Given the description of an element on the screen output the (x, y) to click on. 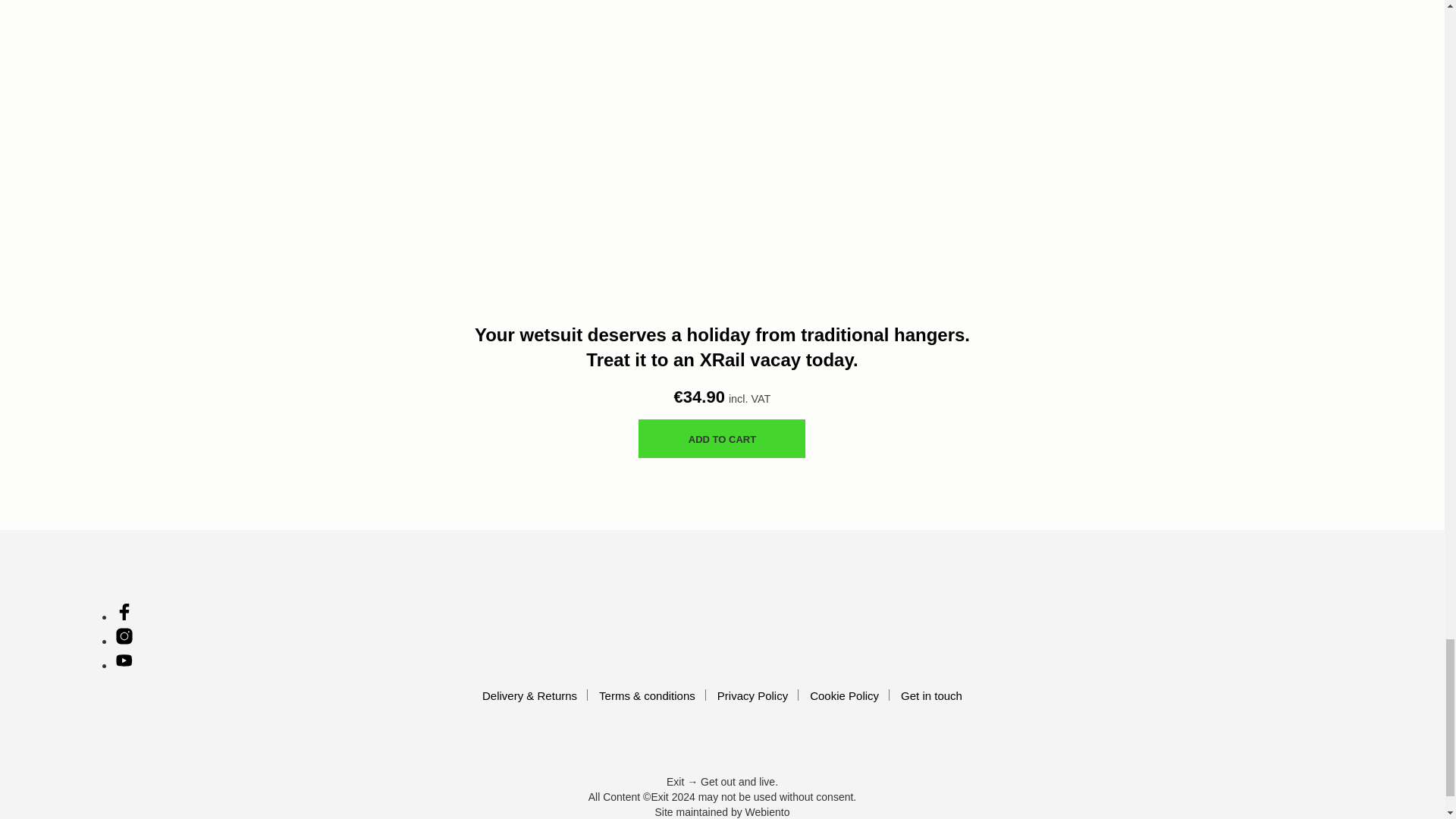
Privacy Policy (752, 695)
Webiento (767, 812)
Cookie Policy (844, 695)
ADD TO CART (722, 438)
Get in touch (931, 695)
